Given the description of an element on the screen output the (x, y) to click on. 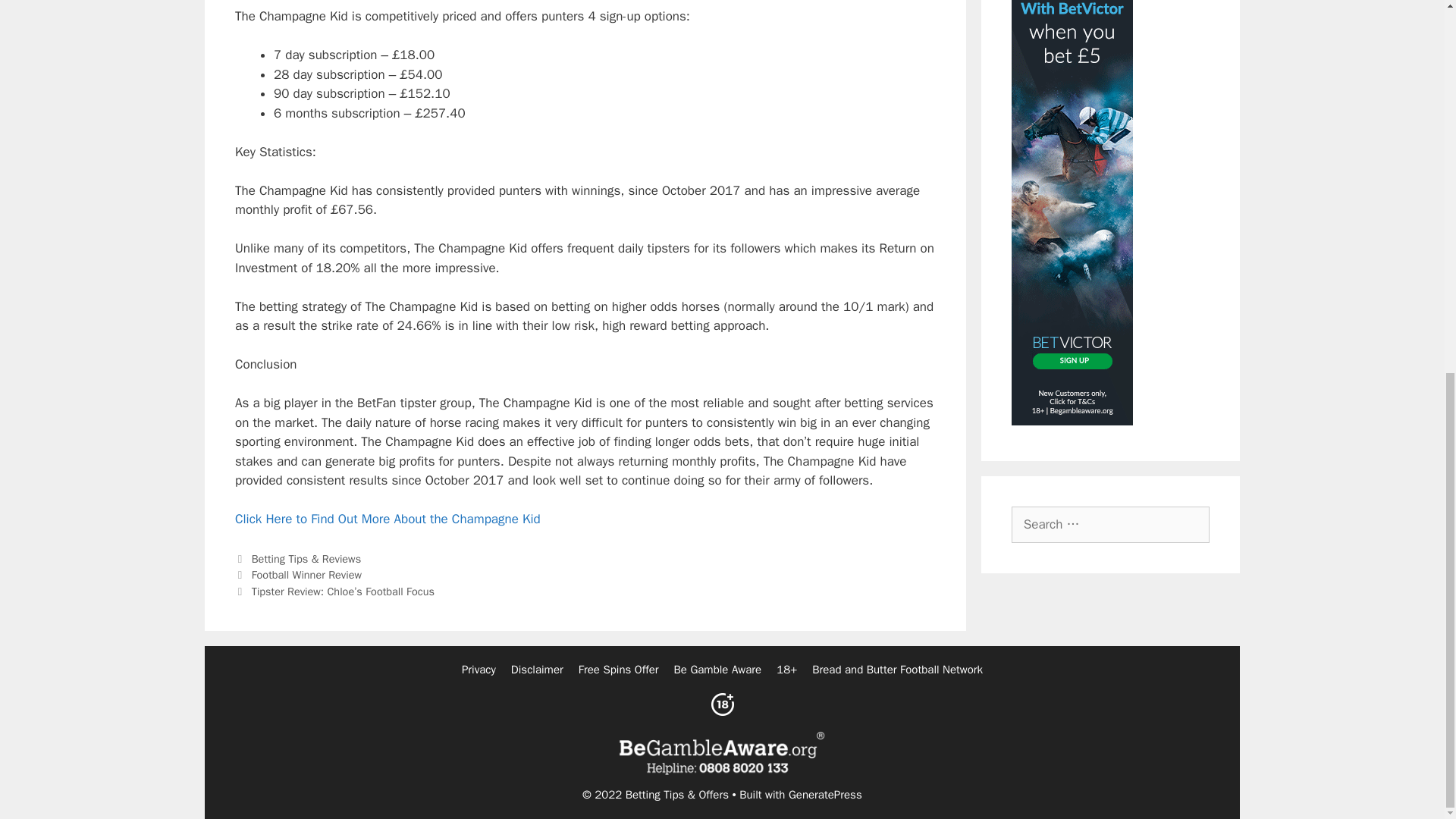
Previous (297, 574)
Disclaimer (537, 669)
Free Spins Offer (618, 669)
Bread and Butter Football Network (897, 669)
Football Winner Review (306, 574)
Privacy (478, 669)
Search for: (1110, 524)
Click Here to Find Out More About the Champagne Kid (387, 519)
Be Gamble Aware (717, 669)
GeneratePress (825, 794)
